Given the description of an element on the screen output the (x, y) to click on. 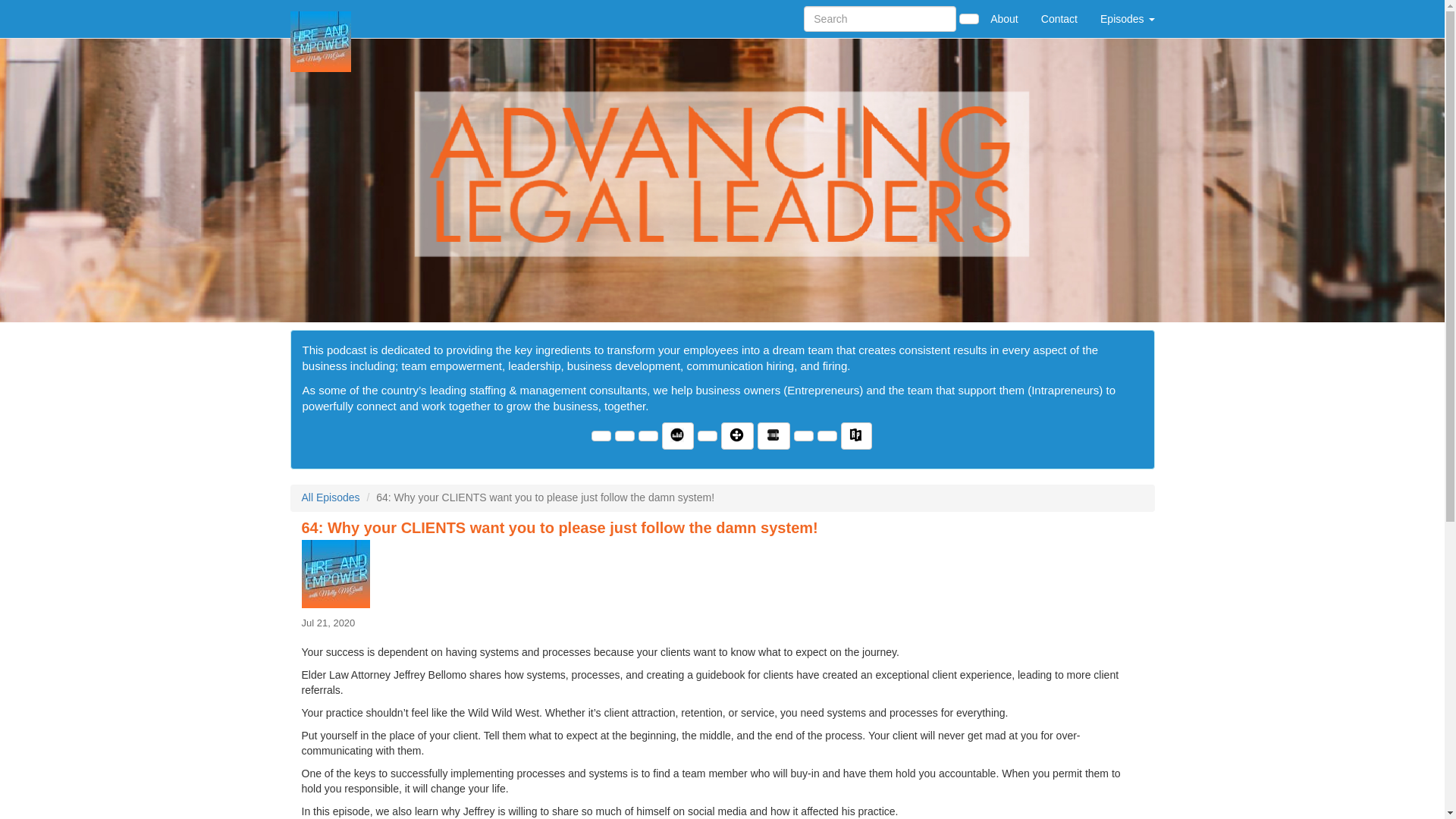
Episodes (1127, 18)
Contact (1059, 18)
Home Page (320, 18)
About (1003, 18)
